Given the description of an element on the screen output the (x, y) to click on. 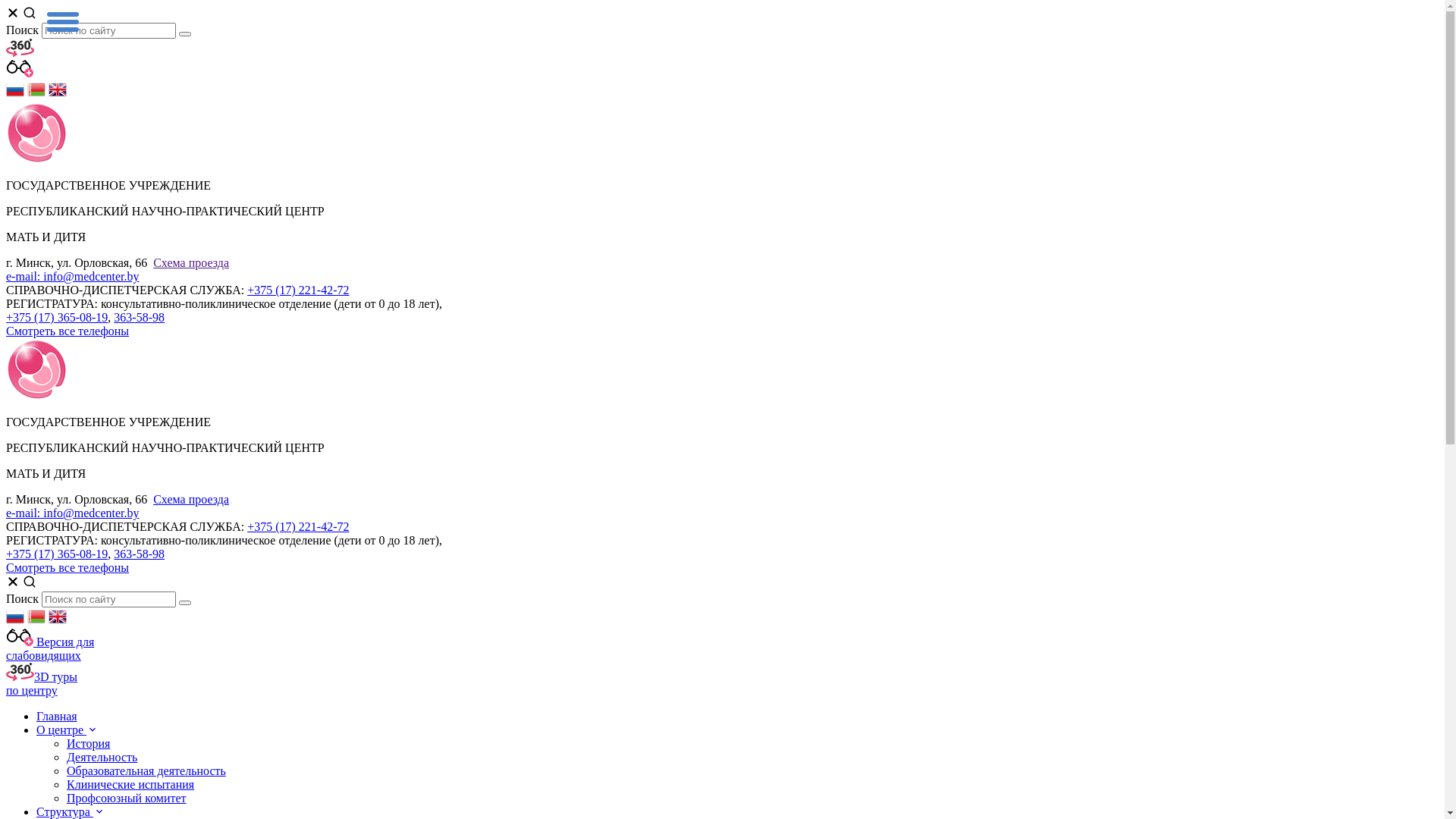
363-58-98 Element type: text (138, 316)
+375 (17) 221-42-72 Element type: text (297, 526)
Russian Element type: hover (15, 93)
+375 (17) 365-08-19 Element type: text (56, 316)
English Element type: hover (57, 621)
363-58-98 Element type: text (138, 553)
Belarusian Element type: hover (36, 93)
Belarusian Element type: hover (36, 621)
Russian Element type: hover (15, 621)
e-mail: info@medcenter.by Element type: text (72, 275)
+375 (17) 365-08-19 Element type: text (56, 553)
e-mail: info@medcenter.by Element type: text (72, 512)
English Element type: hover (57, 93)
+375 (17) 221-42-72 Element type: text (297, 289)
